Given the description of an element on the screen output the (x, y) to click on. 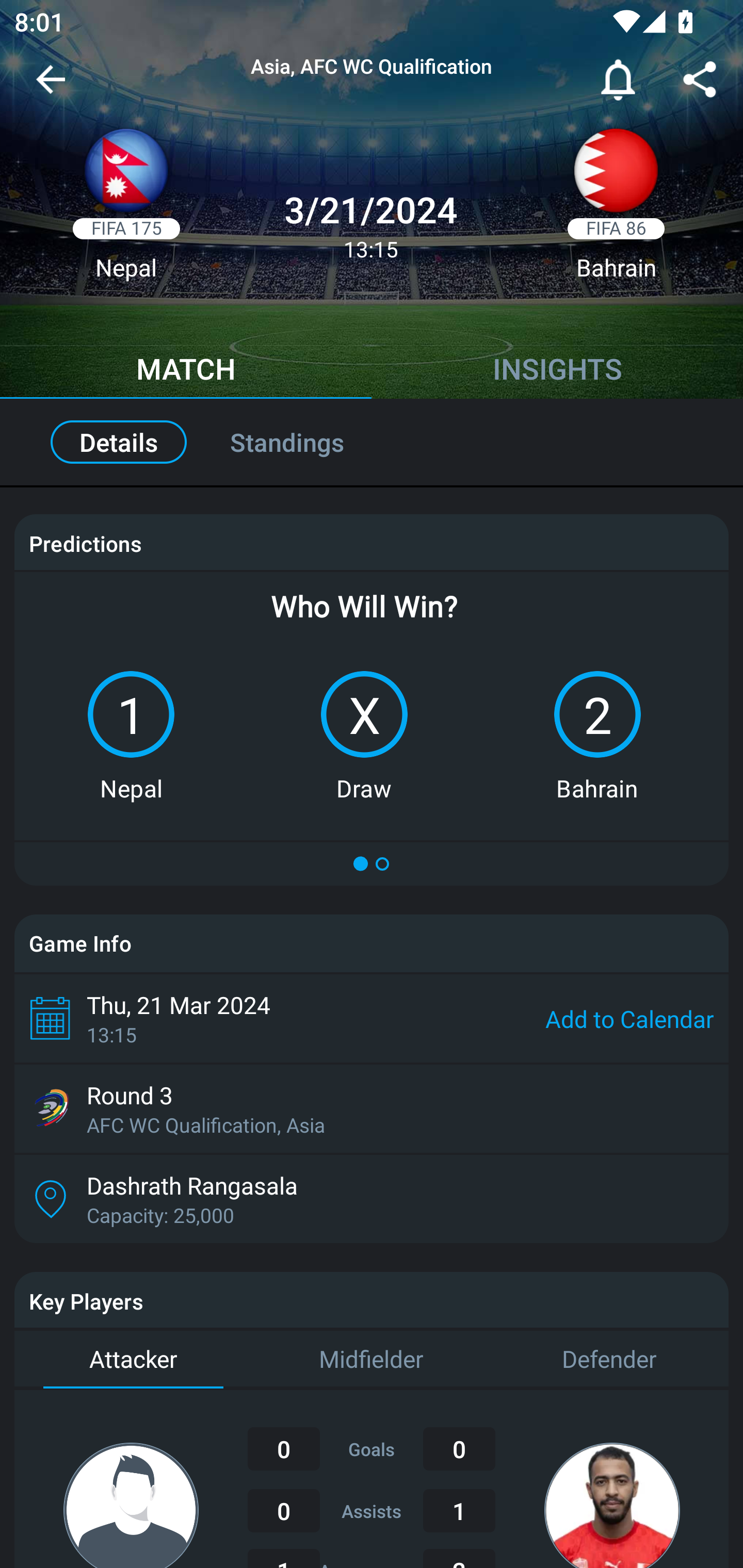
Navigate up (50, 86)
Asia, AFC WC Qualification (371, 66)
Share (699, 82)
FIFA 175 Nepal (126, 210)
FIFA 86 Bahrain (616, 210)
MATCH (185, 371)
INSIGHTS (557, 371)
Standings (308, 442)
Predictions (85, 544)
1 (130, 714)
X (363, 714)
2 (597, 714)
Game Info (371, 943)
Thu, 21 Mar 2024 13:15 Add to Calendar (371, 1018)
Round 3 AFC WC Qualification, Asia (371, 1108)
Dashrath Rangasala Capacity: 25,000 (371, 1199)
Midfielder (371, 1360)
Defender (609, 1360)
